Given the description of an element on the screen output the (x, y) to click on. 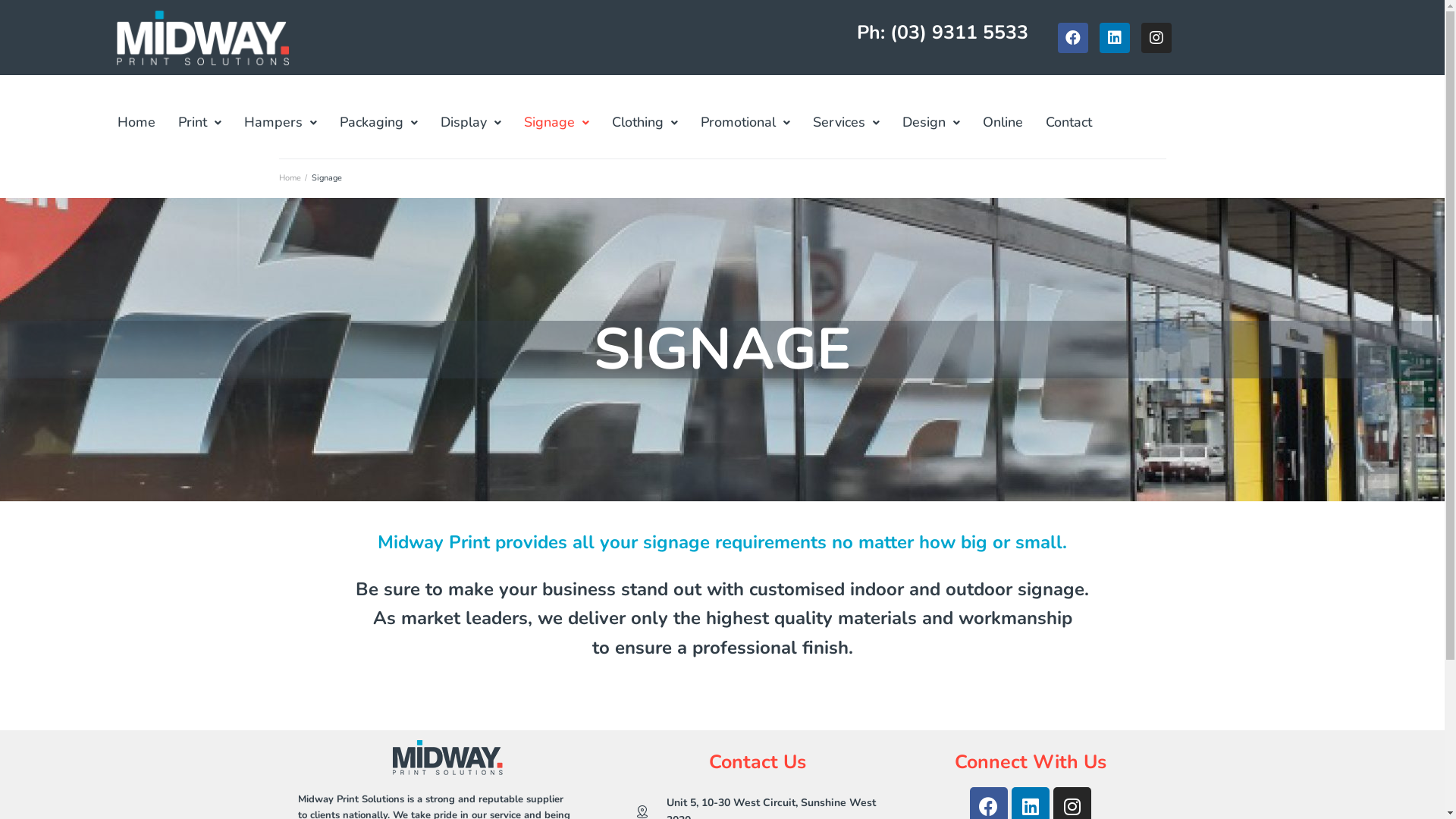
Signage Element type: text (556, 122)
Online Element type: text (1002, 122)
Hampers Element type: text (280, 122)
Print Element type: text (199, 122)
Design Element type: text (931, 122)
Home Element type: text (136, 122)
Clothing Element type: text (644, 122)
Home Element type: text (290, 177)
Display Element type: text (470, 122)
Packaging Element type: text (378, 122)
Promotional Element type: text (745, 122)
Contact Element type: text (1068, 122)
Services Element type: text (846, 122)
